Given the description of an element on the screen output the (x, y) to click on. 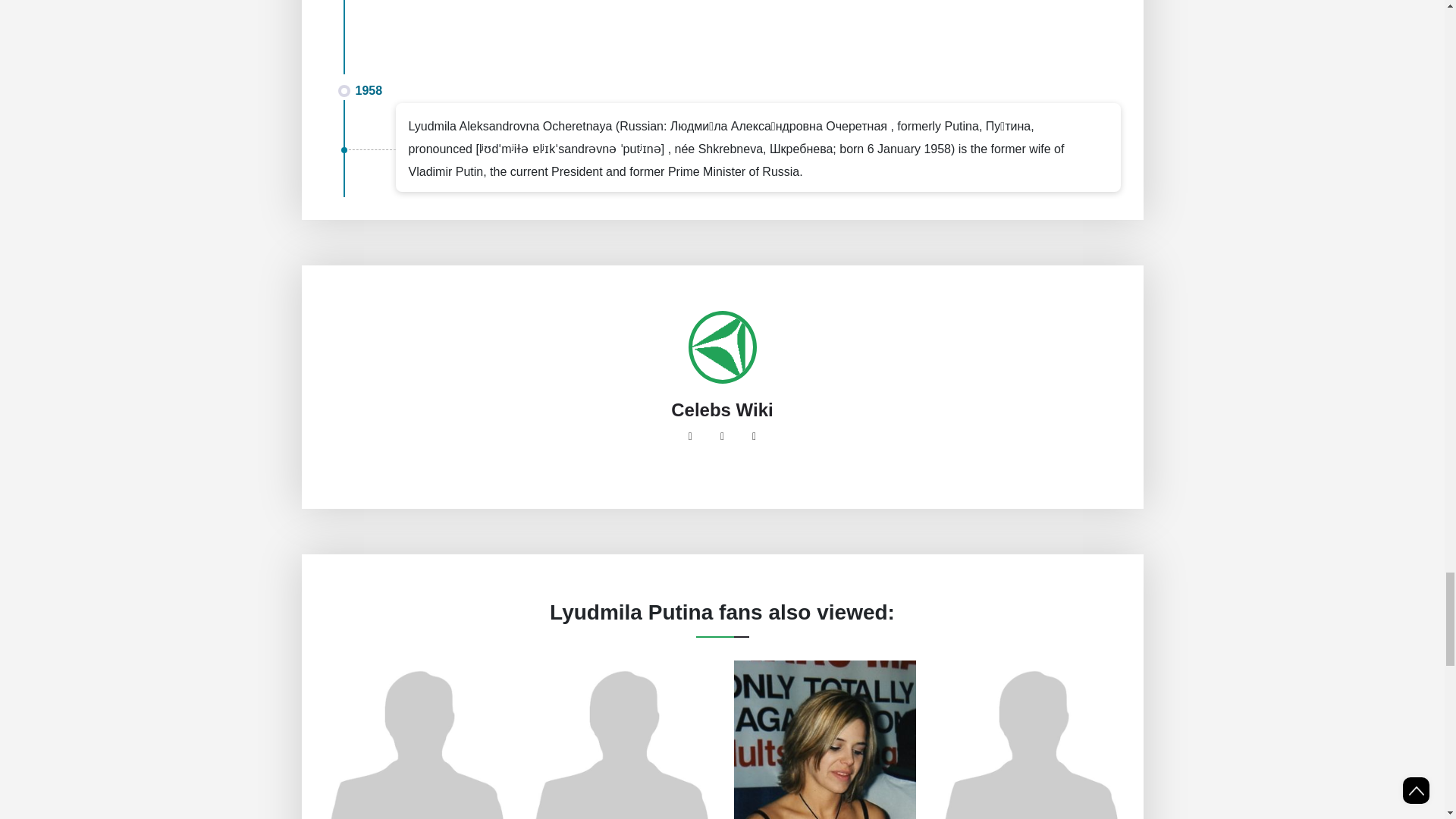
Celebs Wiki (722, 409)
